Given the description of an element on the screen output the (x, y) to click on. 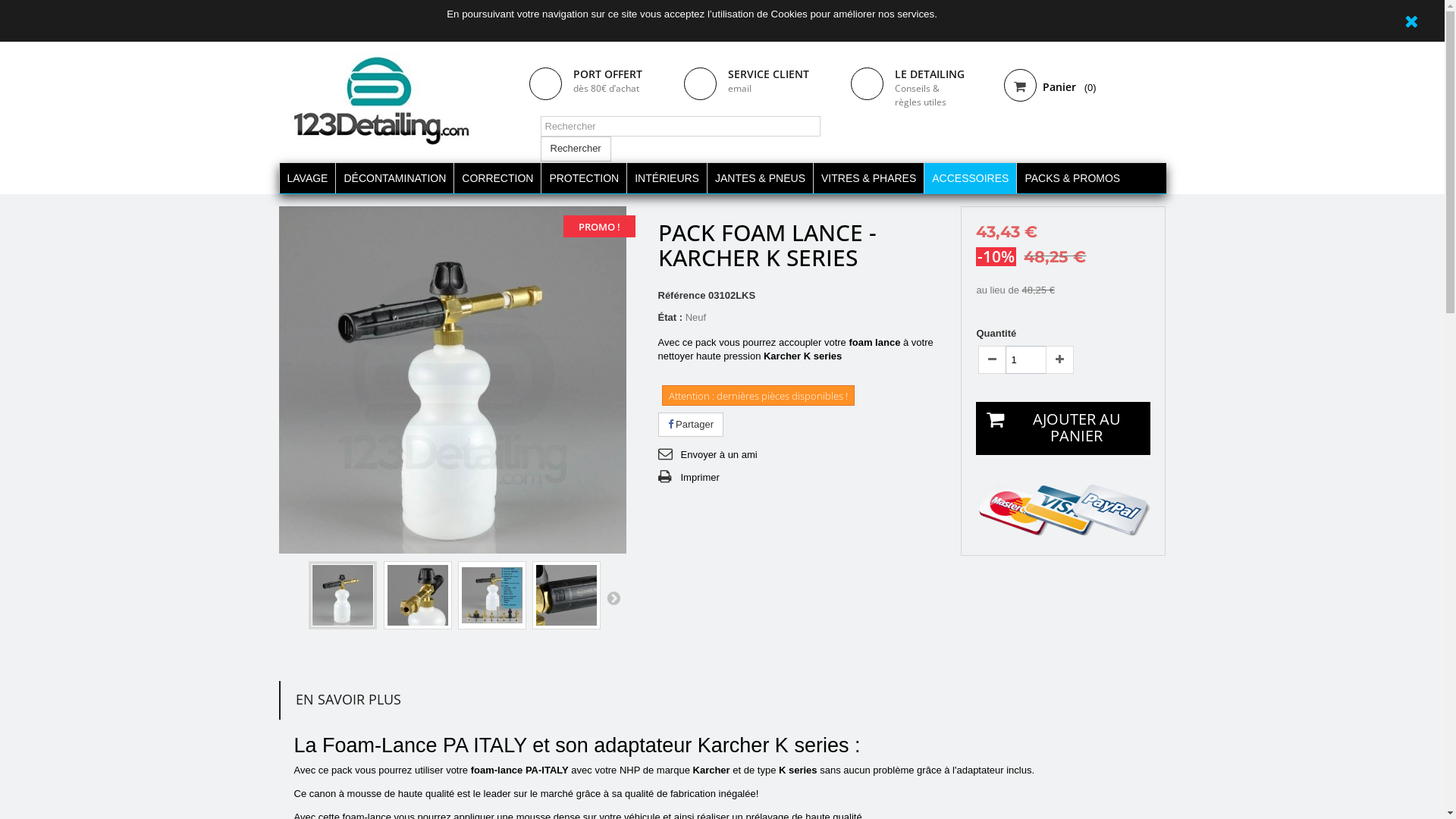
email Element type: text (739, 88)
123Detailing.com - ENDEV Element type: hover (381, 100)
ACCESSOIRES Element type: text (969, 178)
Imprimer Element type: text (688, 477)
LAVAGE Element type: text (307, 178)
Panier (0) Element type: text (1078, 87)
FOAM LANCE PA ITALY Element type: hover (566, 595)
PROTECTION Element type: text (583, 178)
FOAM LANCE PA ITALY Element type: hover (565, 594)
embout canon mousse karcher K6 k7 k4 k5 Element type: hover (417, 595)
PORT OFFERT Element type: text (607, 74)
Contactez-nous Element type: text (1060, 25)
adaptateur FOAM LANCE - KARCHER K Series Element type: hover (492, 595)
PACKS & PROMOS Element type: text (1071, 178)
CORRECTION Element type: text (496, 178)
VITRES & PHARES Element type: text (867, 178)
pack FOAM LANCE - KARCHER K Series Element type: hover (452, 379)
pack FOAM LANCE - KARCHER K Series Element type: hover (341, 595)
AJOUTER AU PANIER Element type: text (1062, 428)
embout canon mousse karcher K6 k7 k4 k5 Element type: hover (416, 594)
adaptateur FOAM LANCE - KARCHER K Series Element type: hover (491, 594)
Suivant Element type: text (612, 597)
JANTES & PNEUS Element type: text (759, 178)
Connexion Element type: text (1135, 25)
Partager Element type: text (690, 424)
pack FOAM LANCE - KARCHER K Series Element type: hover (342, 594)
SERVICE CLIENT Element type: text (768, 74)
LE DETAILING Element type: text (929, 74)
Rechercher Element type: text (574, 148)
